Given the description of an element on the screen output the (x, y) to click on. 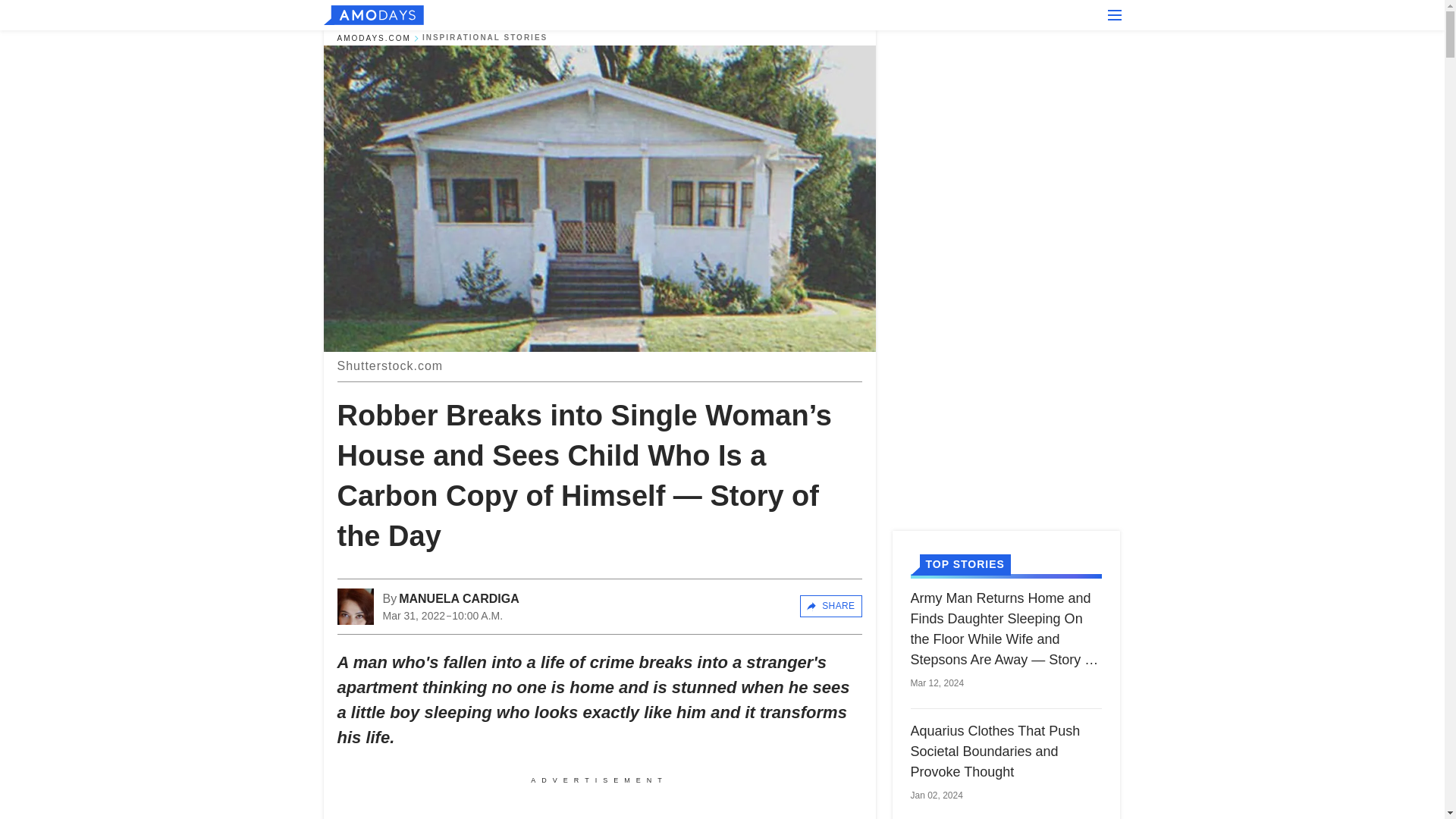
MANUELA CARDIGA (458, 599)
INSPIRATIONAL STORIES (484, 37)
SHARE (830, 605)
AMODAYS.COM (373, 37)
